Given the description of an element on the screen output the (x, y) to click on. 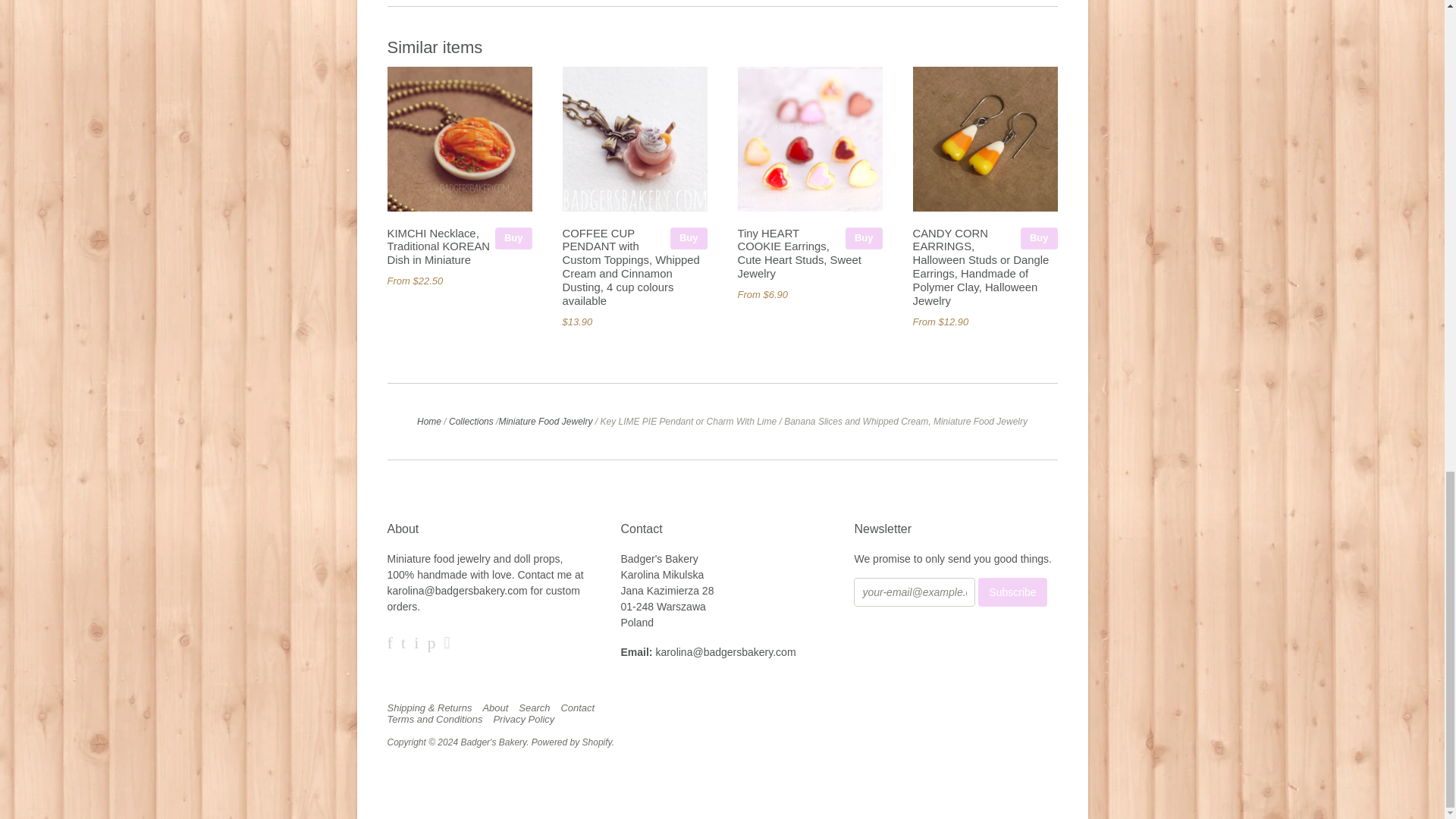
About (498, 707)
Search (537, 707)
Terms and Conditions (438, 719)
Contact (581, 707)
Subscribe (1012, 592)
Privacy Policy (527, 719)
